Given the description of an element on the screen output the (x, y) to click on. 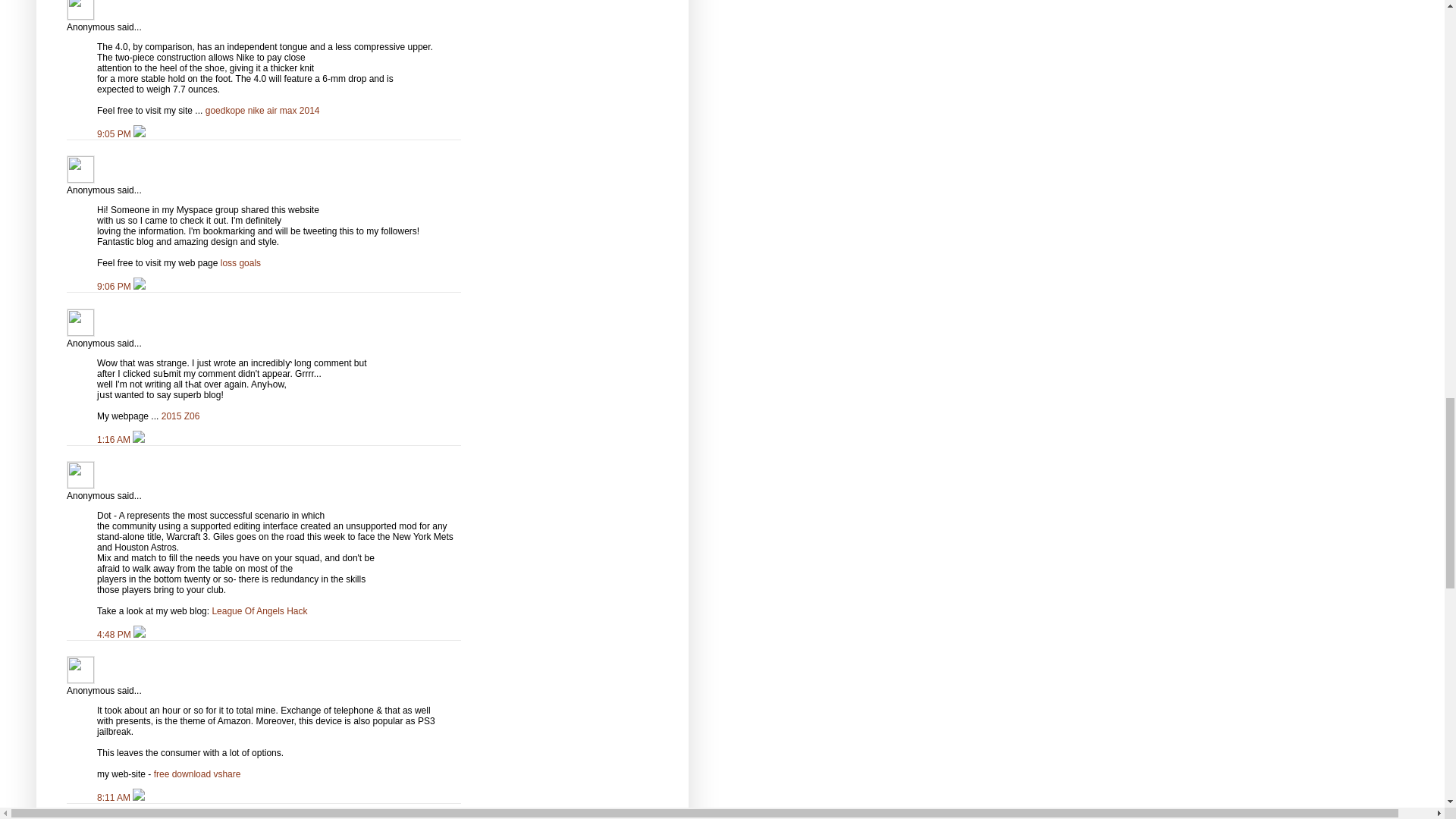
9:05 PM (115, 133)
goedkope nike air max 2014 (262, 110)
comment permalink (115, 286)
League Of Angels Hack (259, 611)
2015 Z06 (180, 416)
Anonymous (80, 169)
1:16 AM (114, 439)
9:06 PM (115, 286)
Anonymous (80, 10)
Delete Comment (139, 133)
free download vshare (197, 774)
4:48 PM (115, 634)
8:11 AM (114, 797)
comment permalink (115, 133)
loss goals (240, 262)
